Given the description of an element on the screen output the (x, y) to click on. 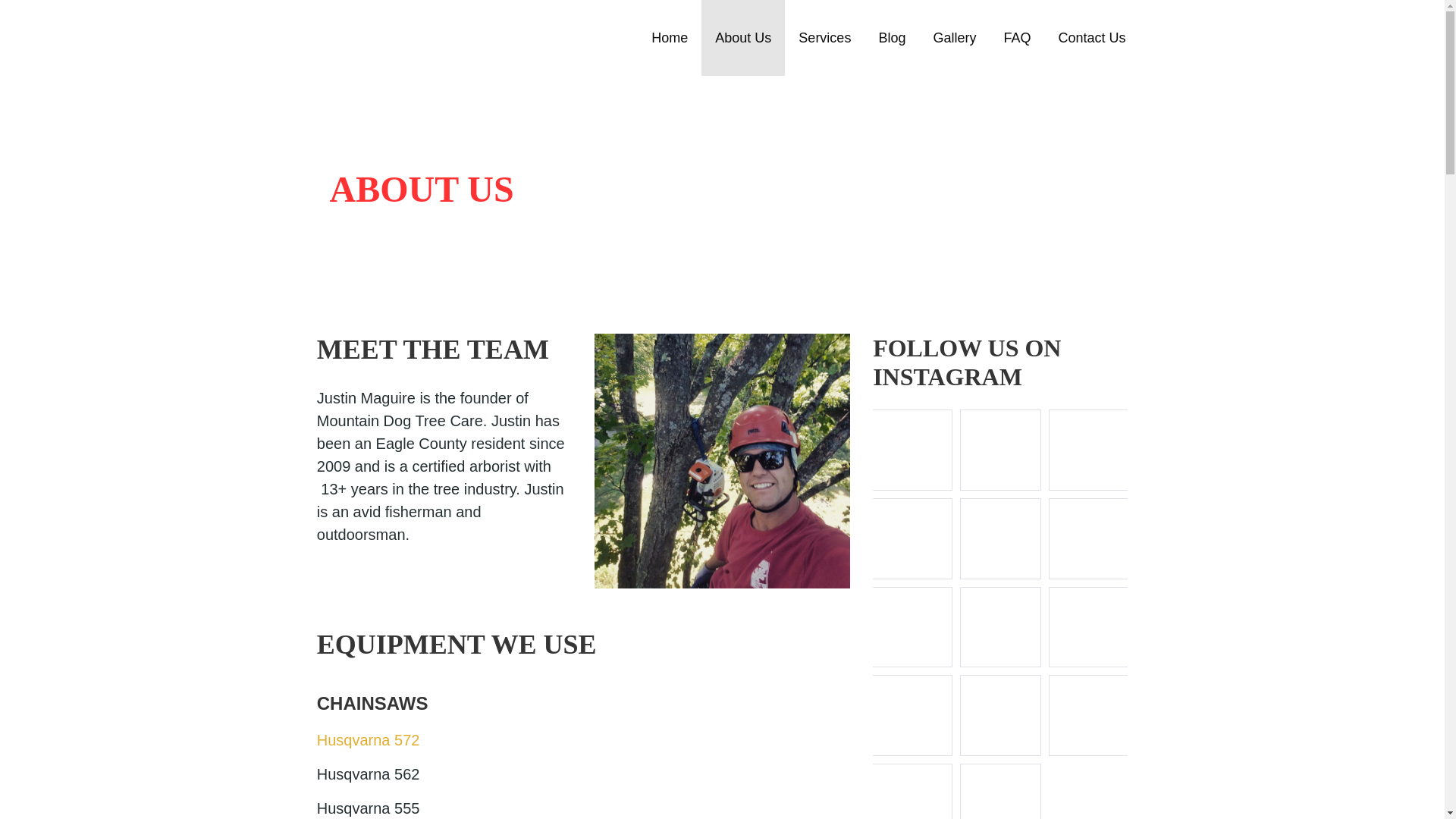
MOUNTAIN DOG TREE CARE (465, 86)
Services (824, 38)
Husqvarna 572 (368, 740)
Contact Us (1090, 38)
Gallery (954, 38)
About Us (742, 38)
